Given the description of an element on the screen output the (x, y) to click on. 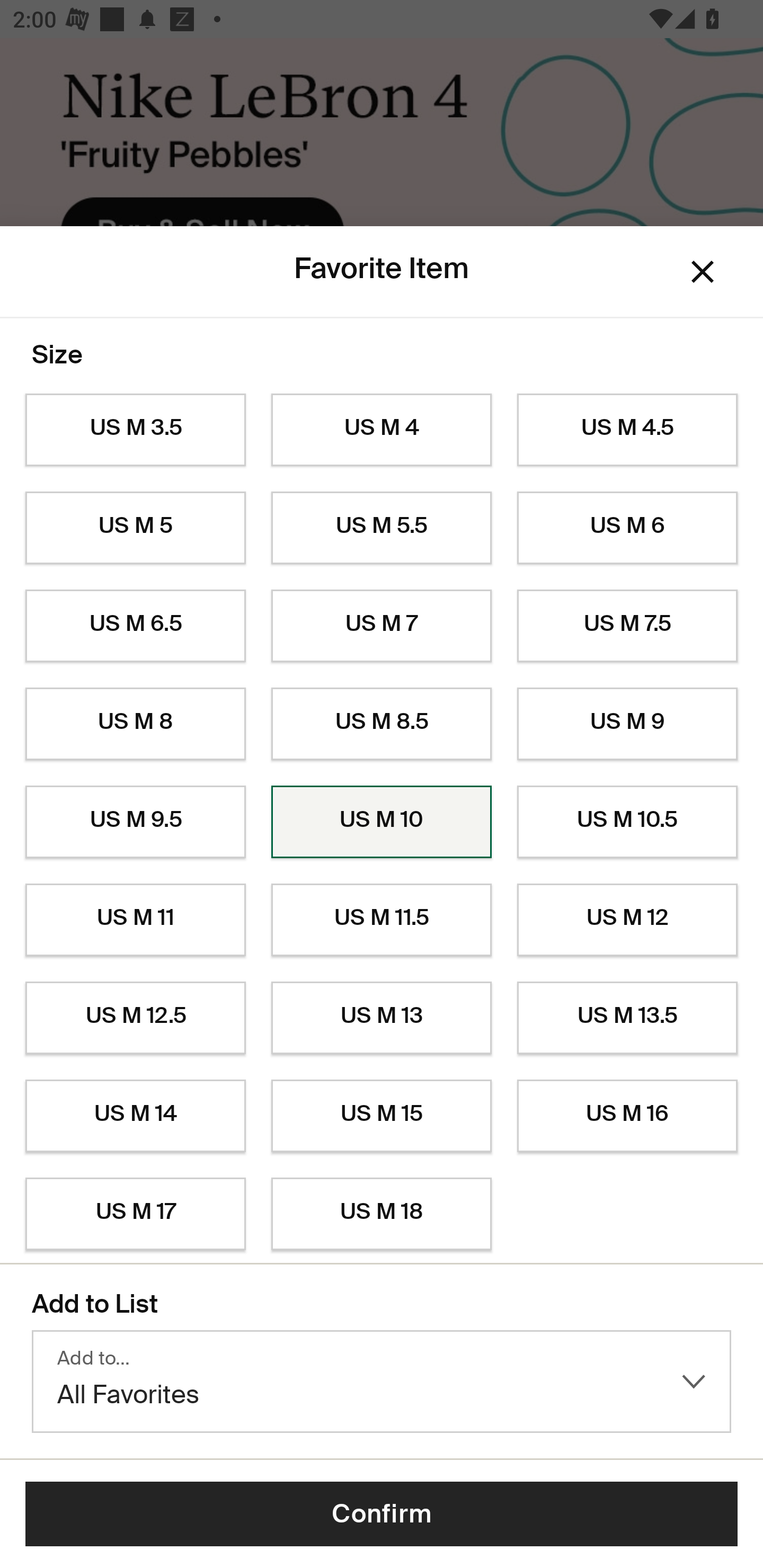
Dismiss (702, 271)
US M 3.5 (135, 430)
US M 4 (381, 430)
US M 4.5 (627, 430)
US M 5 (135, 527)
US M 5.5 (381, 527)
US M 6 (627, 527)
US M 6.5 (135, 626)
US M 7 (381, 626)
US M 7.5 (627, 626)
US M 8 (135, 724)
US M 8.5 (381, 724)
US M 9 (627, 724)
US M 9.5 (135, 822)
US M 10 (381, 822)
US M 10.5 (627, 822)
US M 11 (135, 919)
US M 11.5 (381, 919)
US M 12 (627, 919)
US M 12.5 (135, 1018)
US M 13 (381, 1018)
US M 13.5 (627, 1018)
US M 14 (135, 1116)
US M 15 (381, 1116)
US M 16 (627, 1116)
US M 17 (135, 1214)
US M 18 (381, 1214)
Add to… All Favorites (381, 1381)
Confirm (381, 1513)
